Given the description of an element on the screen output the (x, y) to click on. 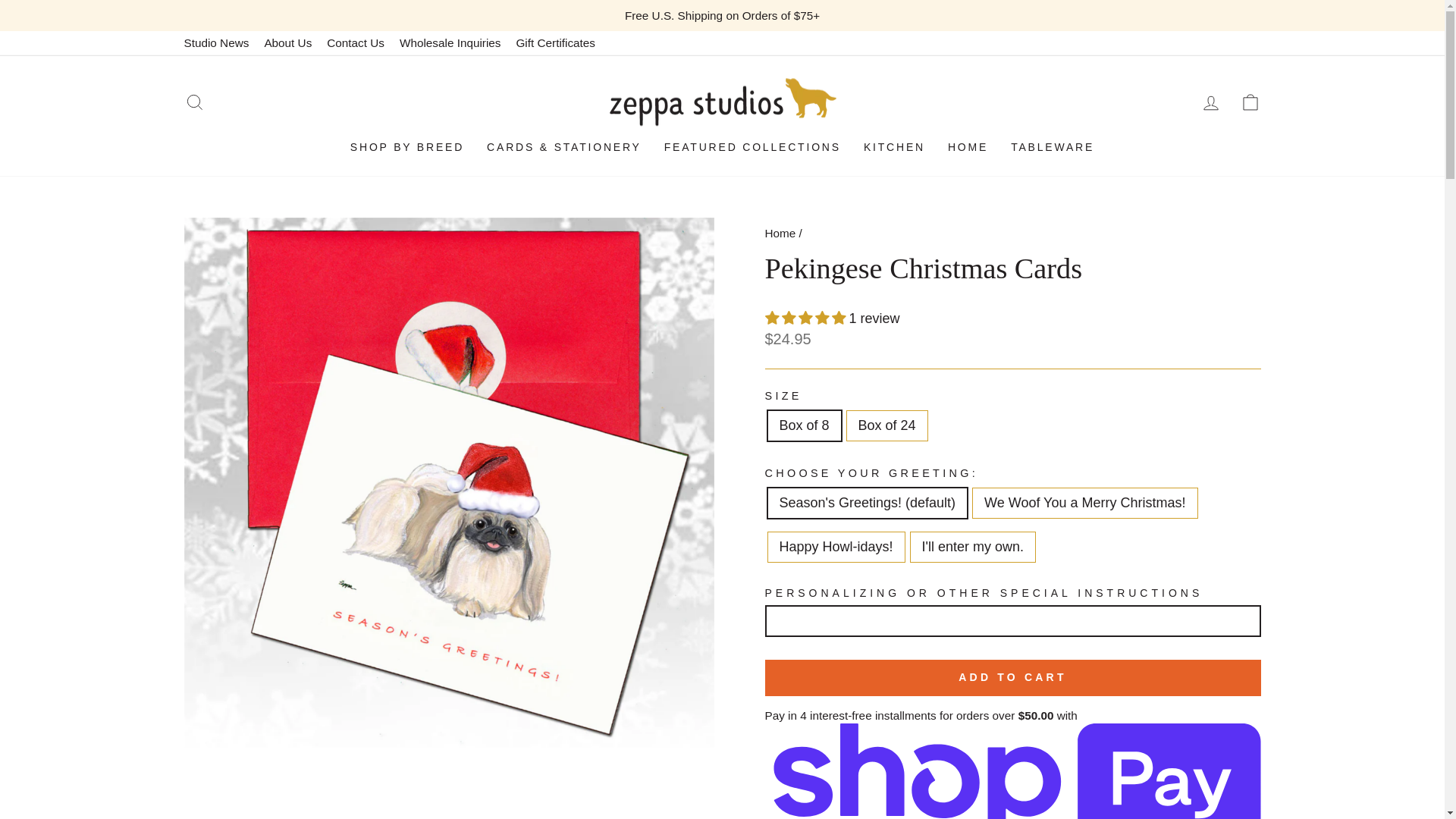
Back to the frontpage (779, 232)
